Given the description of an element on the screen output the (x, y) to click on. 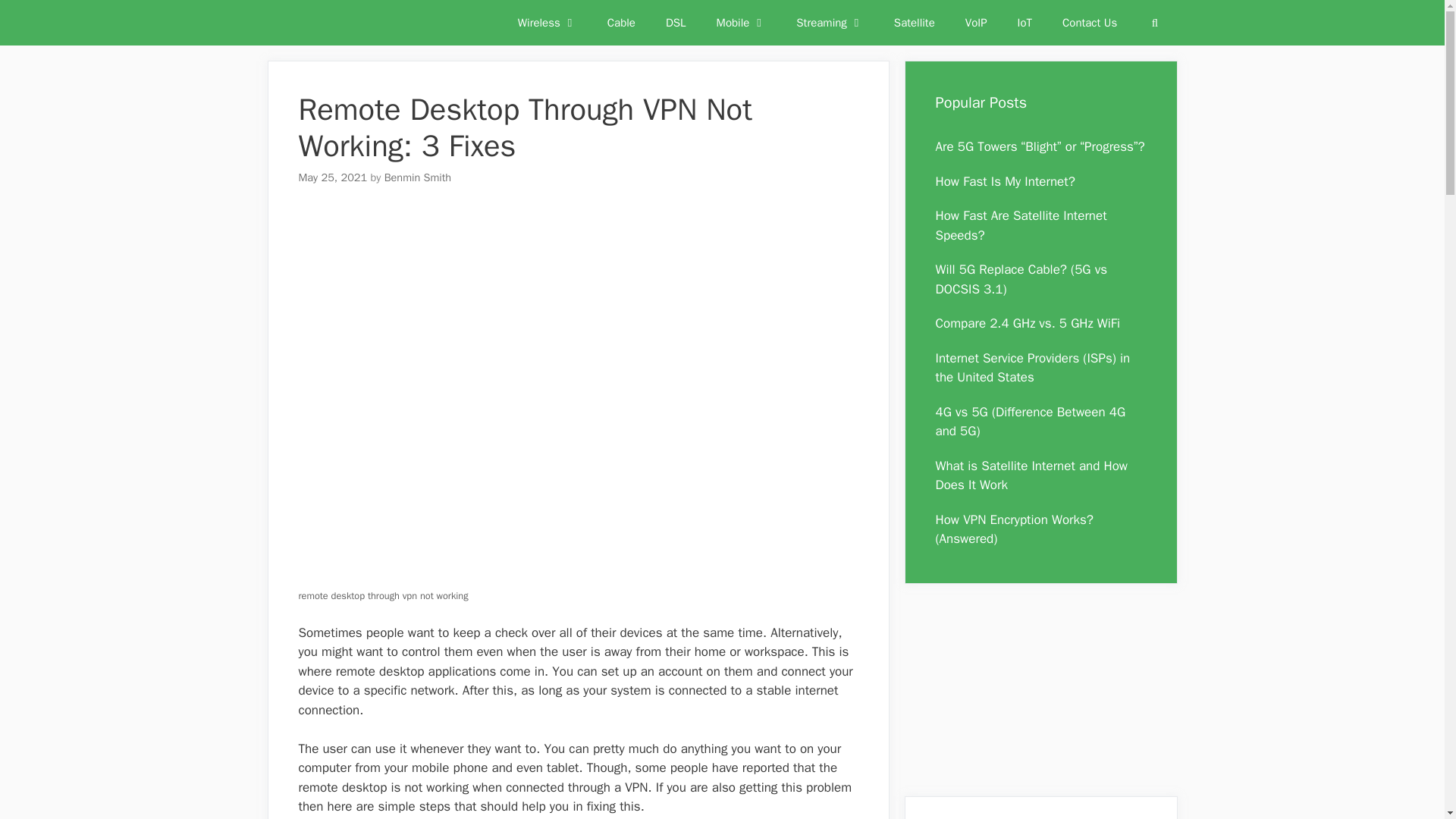
View all posts by Benmin Smith (417, 177)
Search (1154, 22)
Wireless (547, 22)
Streaming (829, 22)
Benmin Smith (417, 177)
DSL (675, 22)
Cable (621, 22)
Satellite (914, 22)
Mobile (741, 22)
9:45 am (333, 177)
